Given the description of an element on the screen output the (x, y) to click on. 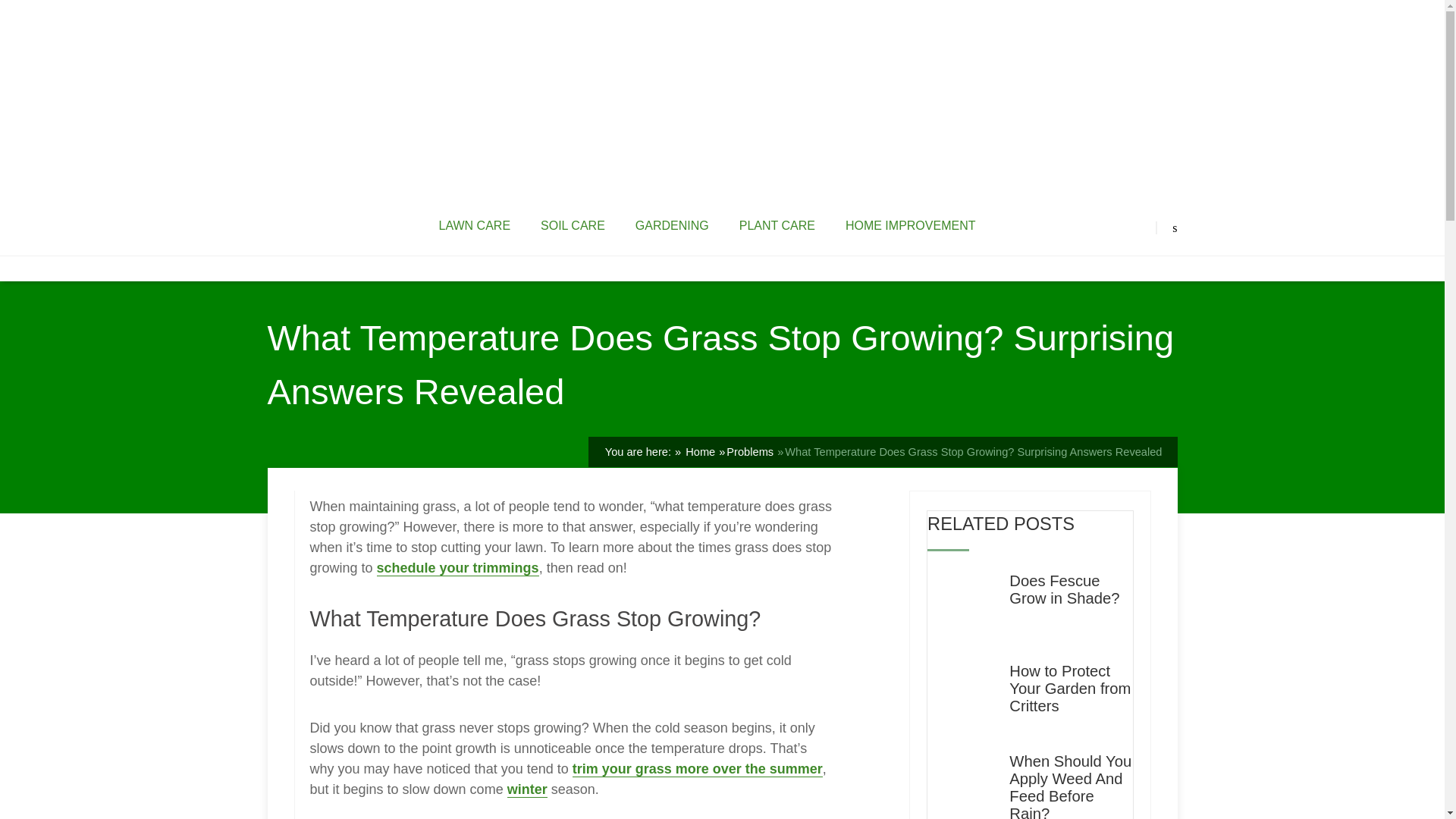
trim your grass more over the summer (697, 769)
GARDENING (671, 225)
Does Fescue Grow in Shade? (1070, 589)
How to Protect Your Garden from Critters (1070, 688)
Problems (749, 451)
PLANT CARE (777, 225)
winter (526, 789)
When Should You Apply Weed And Feed Before Rain? (1070, 785)
schedule your trimmings (457, 568)
Home (698, 451)
HOME IMPROVEMENT (910, 225)
LAWN CARE (475, 225)
SOIL CARE (572, 225)
